Given the description of an element on the screen output the (x, y) to click on. 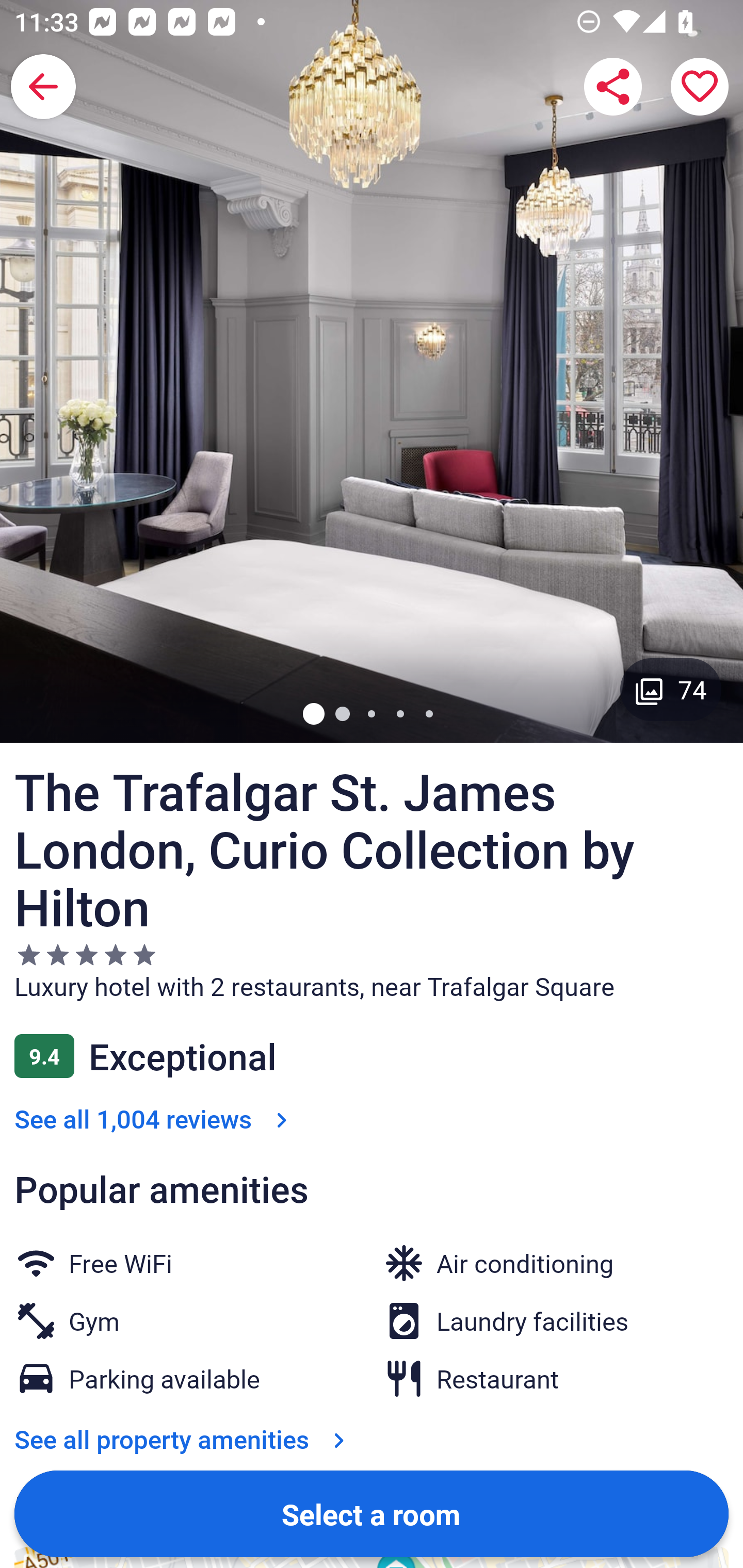
Back (43, 86)
Save property to a trip (699, 86)
Gallery button with 74 images (670, 689)
See all property amenities (183, 1306)
Select a room Button Select a room (371, 1513)
